Given the description of an element on the screen output the (x, y) to click on. 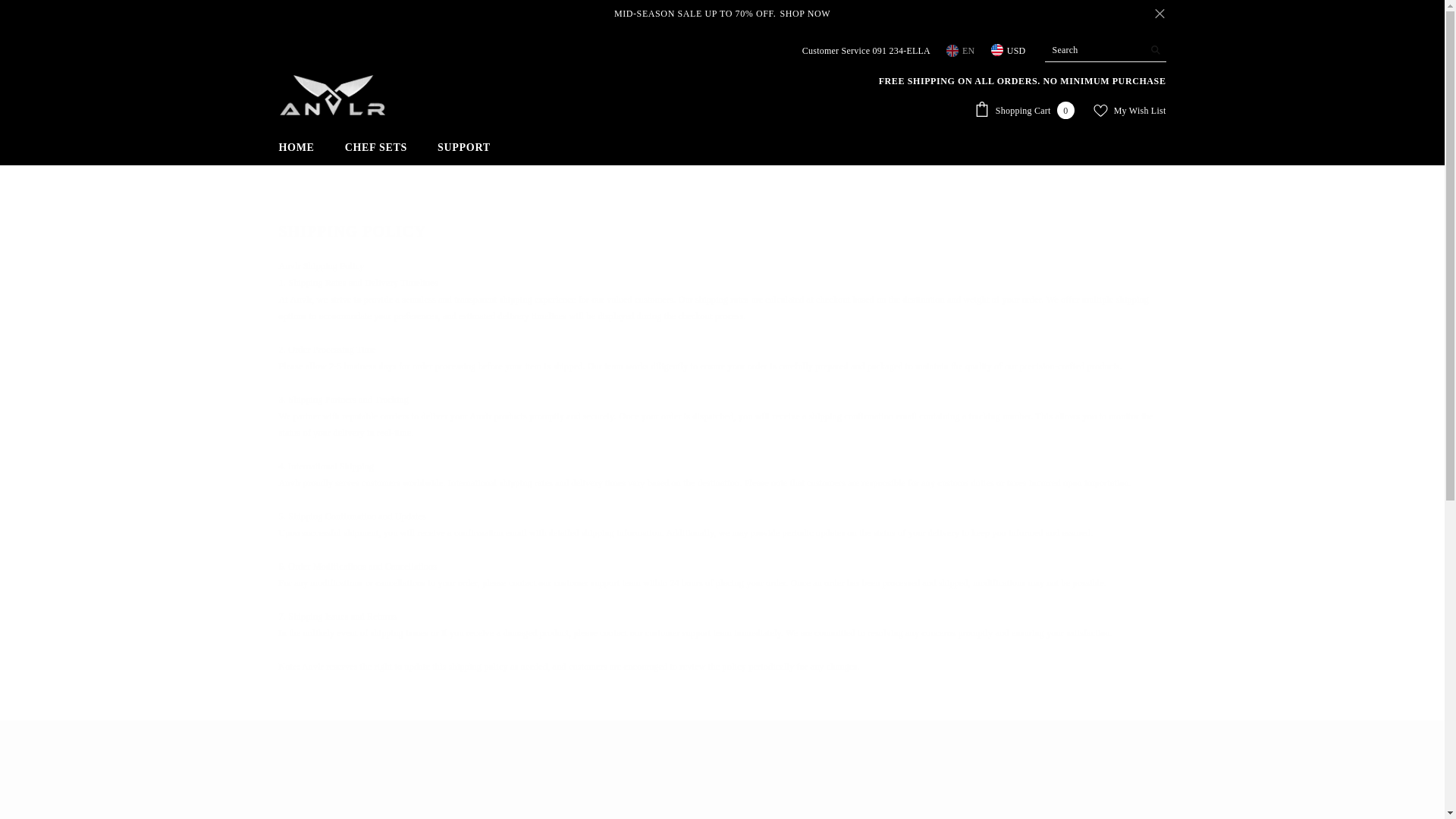
My Wish List (1129, 110)
EN (962, 50)
SHIPPING POLICY (357, 790)
HOME (722, 226)
Close (296, 152)
CHEF SETS (1024, 109)
